Given the description of an element on the screen output the (x, y) to click on. 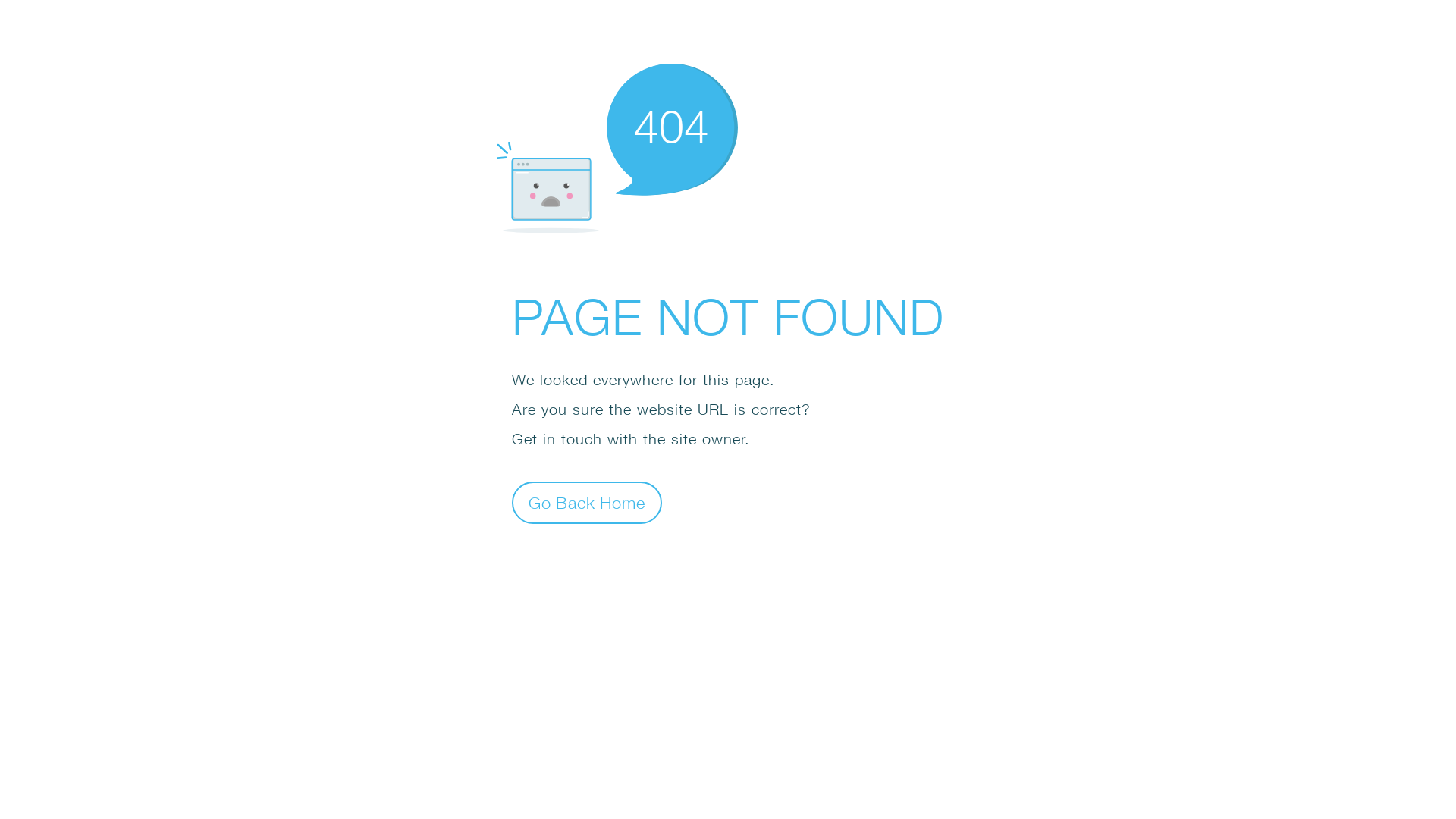
Go Back Home Element type: text (586, 502)
